Given the description of an element on the screen output the (x, y) to click on. 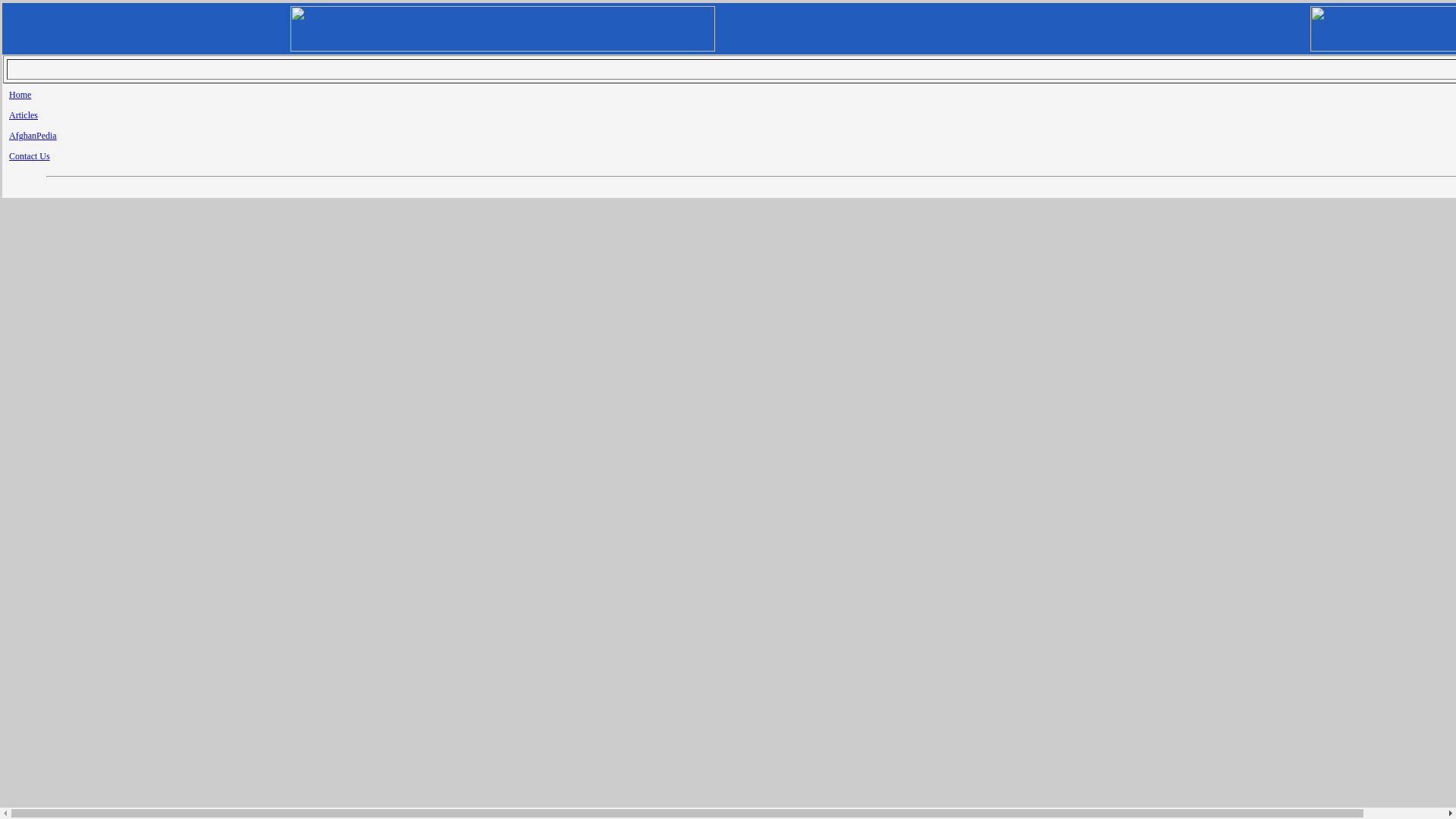
AfghanPedia (32, 135)
Articles (22, 114)
Contact Us (28, 155)
Home (19, 94)
